Given the description of an element on the screen output the (x, y) to click on. 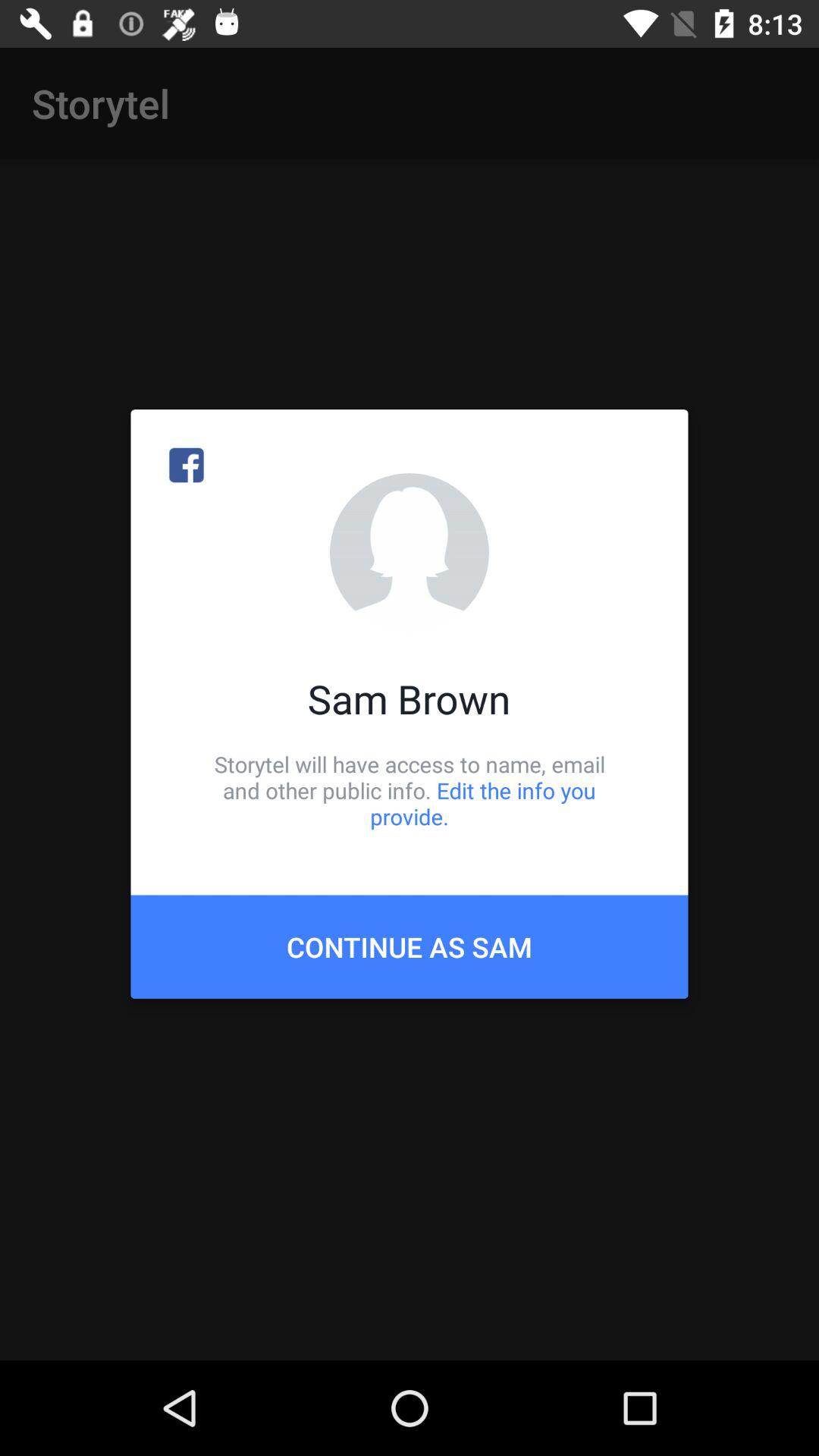
press the icon below sam brown item (409, 790)
